Given the description of an element on the screen output the (x, y) to click on. 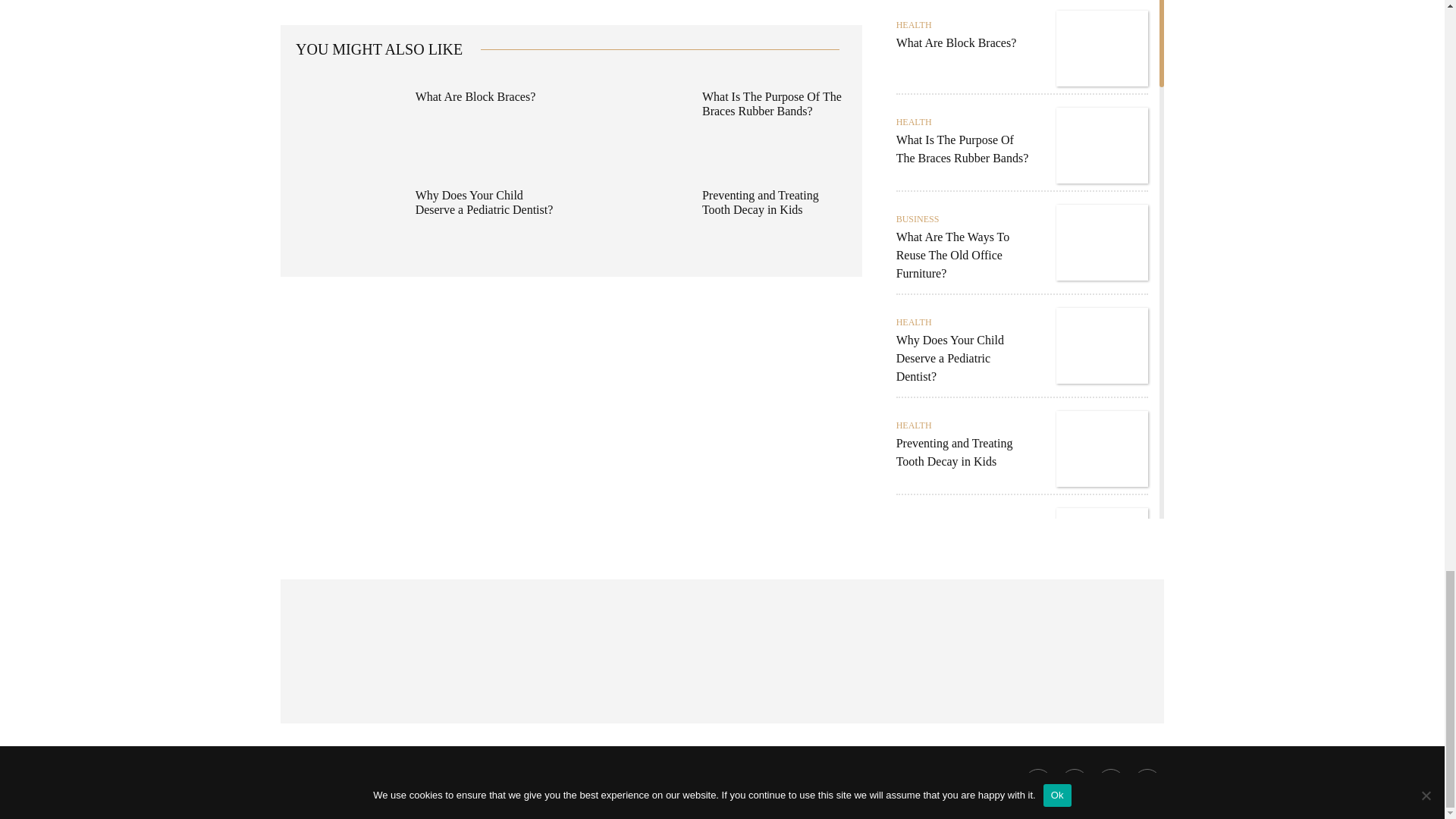
Share on Twitter (1074, 782)
Share on Facebook (1038, 782)
